Given the description of an element on the screen output the (x, y) to click on. 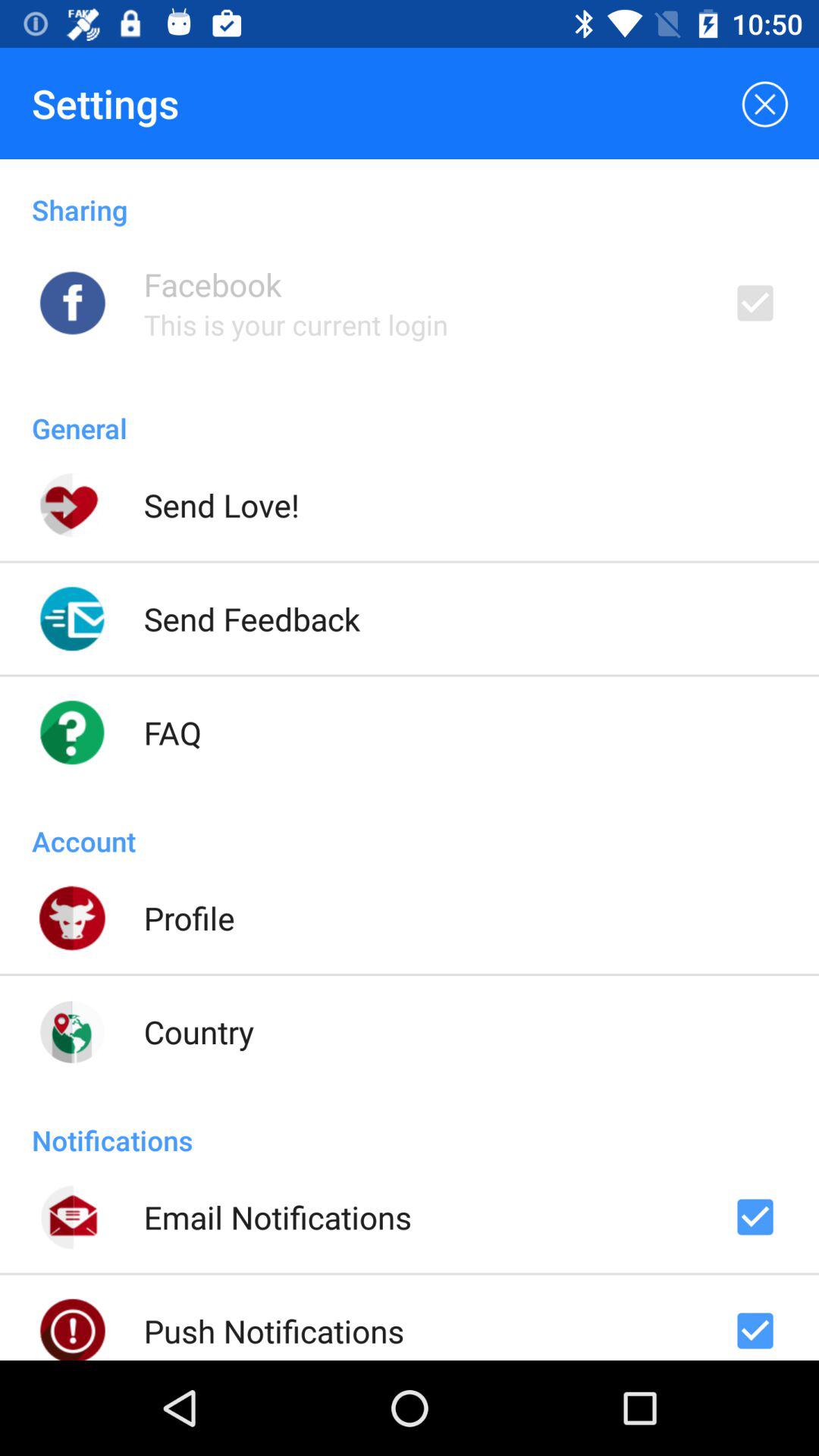
tap the icon above country (188, 917)
